Given the description of an element on the screen output the (x, y) to click on. 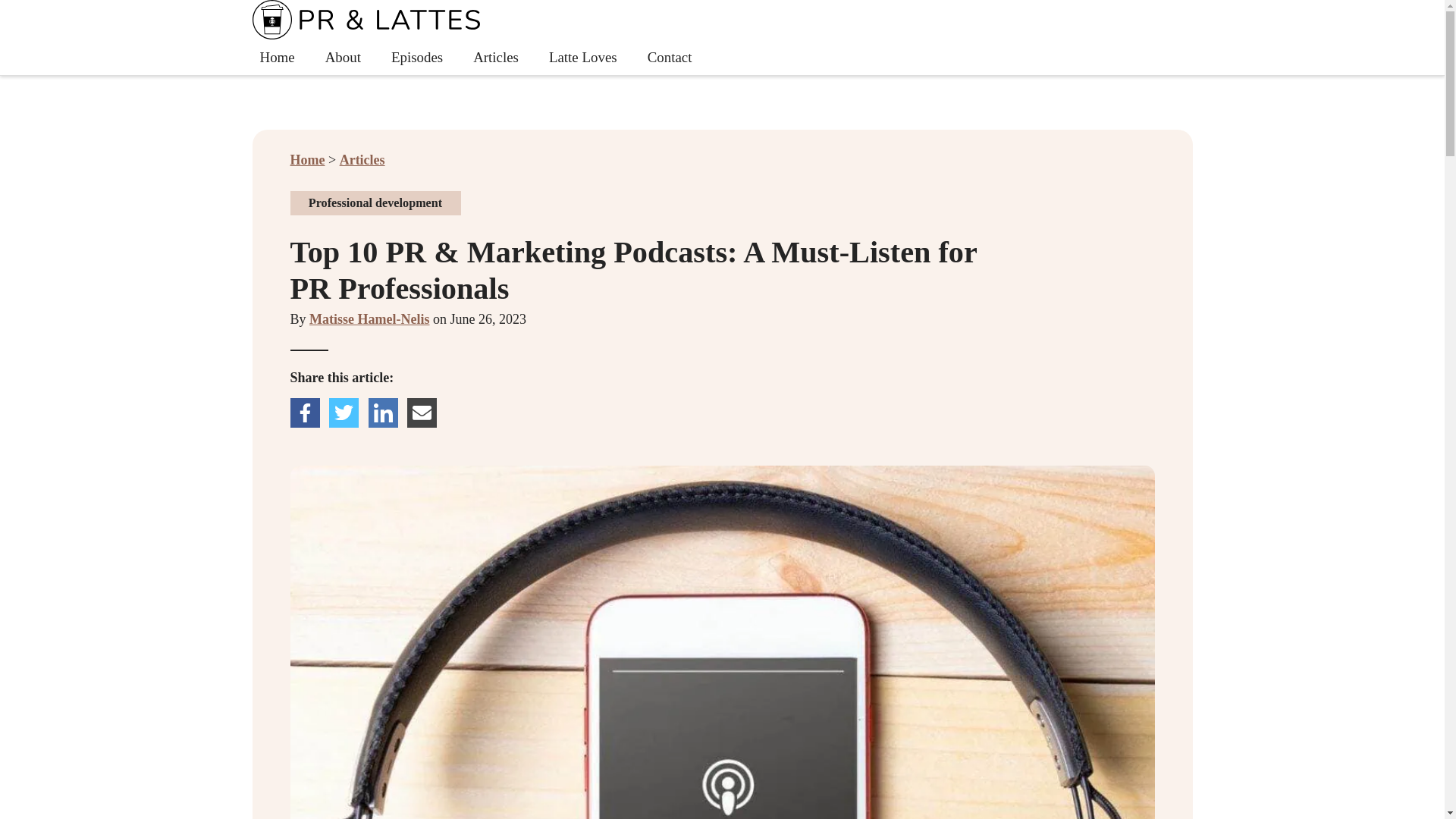
Articles (495, 57)
Episodes (416, 57)
Contact (670, 57)
Home (306, 159)
Articles (362, 159)
Home (722, 38)
Latte Loves (276, 57)
About (582, 57)
Matisse Hamel-Nelis (342, 57)
